Given the description of an element on the screen output the (x, y) to click on. 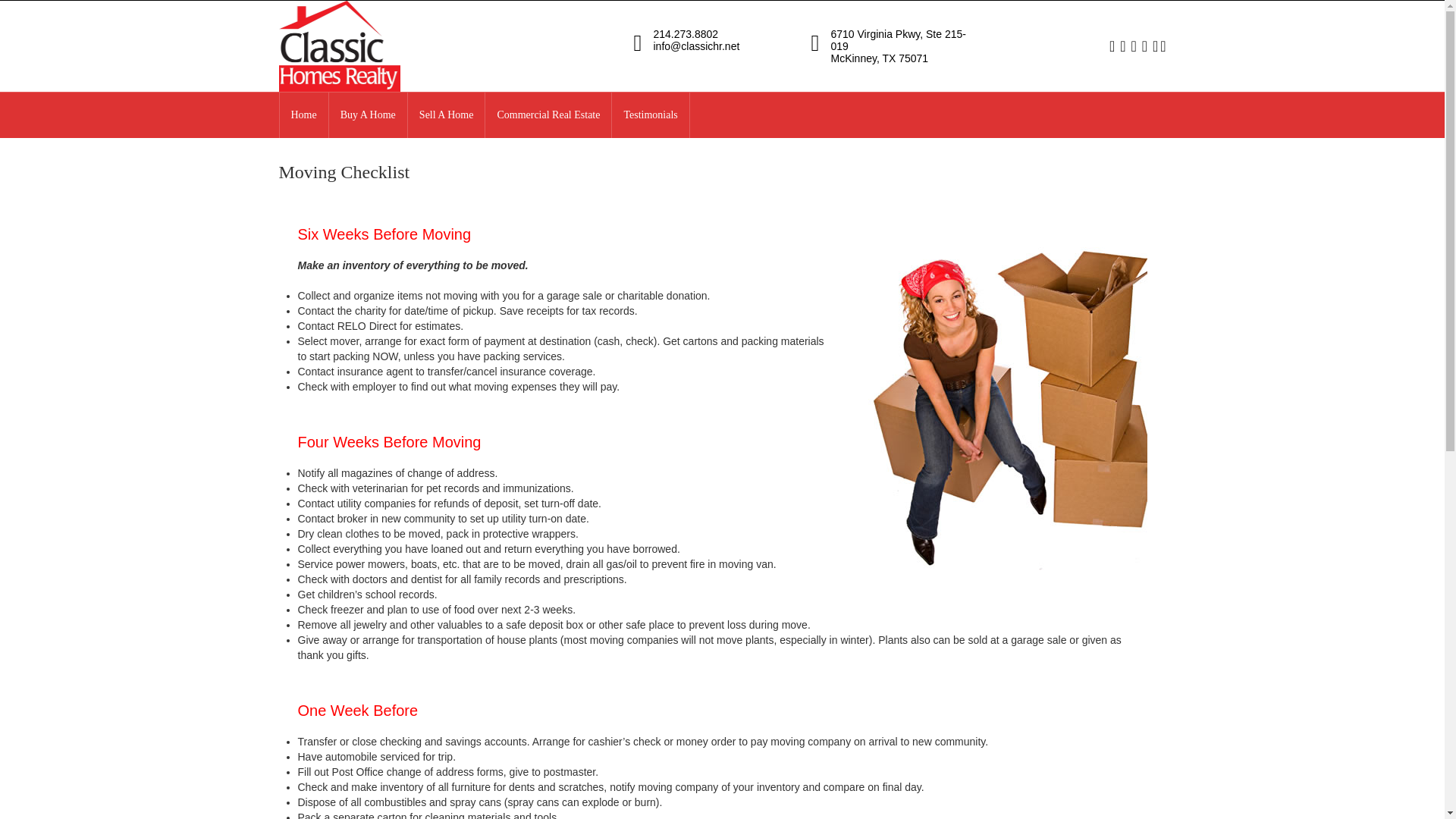
Buy A Home (368, 115)
Testimonials (649, 115)
Sell A Home (445, 115)
Commercial Real Estate (547, 115)
Home (303, 115)
